Given the description of an element on the screen output the (x, y) to click on. 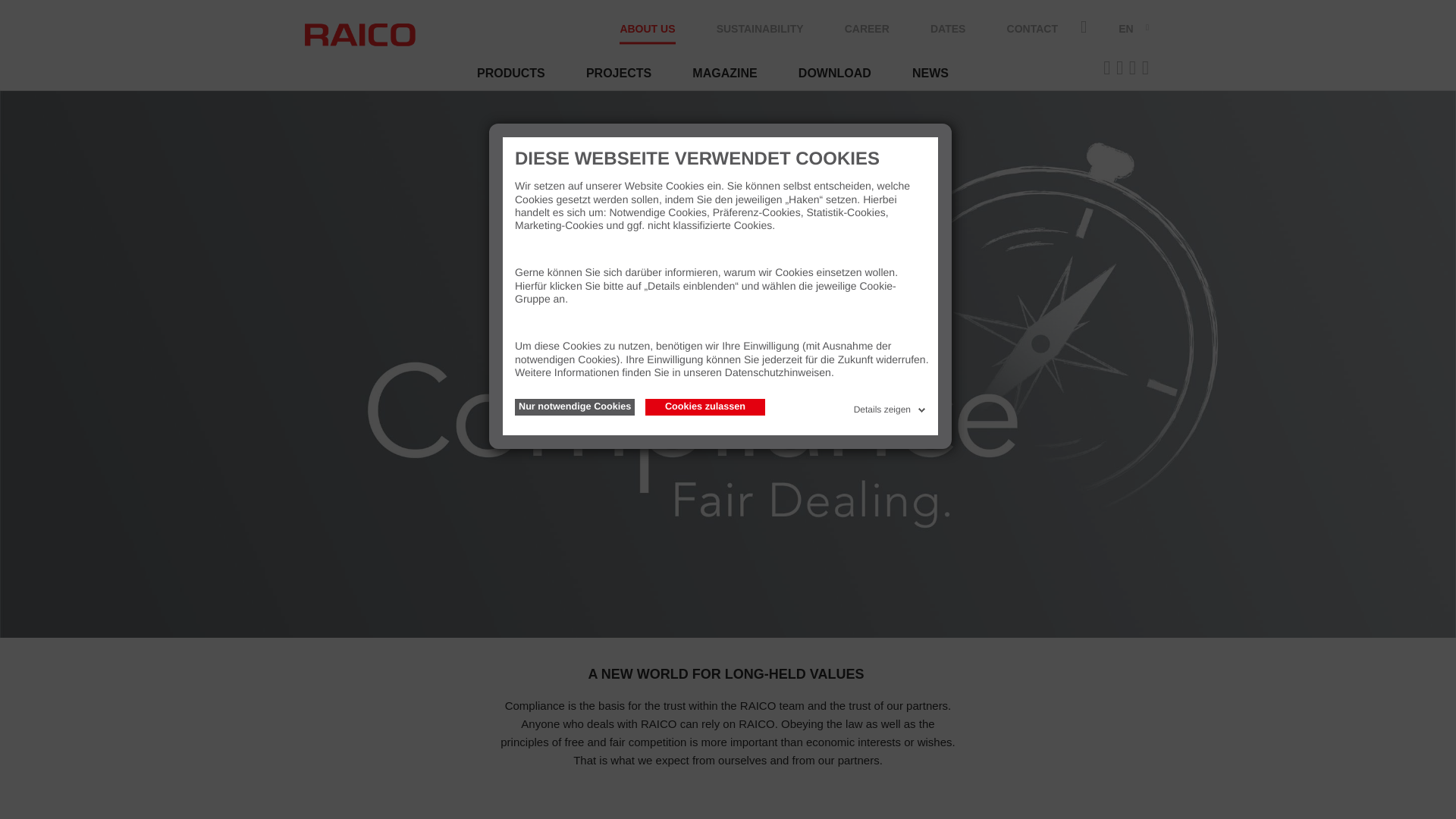
Search (24, 8)
SUSTAINABILITY (759, 32)
Cookies zulassen (705, 406)
EN (1125, 27)
Nur notwendige Cookies (574, 406)
CAREER (866, 32)
Details zeigen (890, 406)
ABOUT US (647, 32)
